Given the description of an element on the screen output the (x, y) to click on. 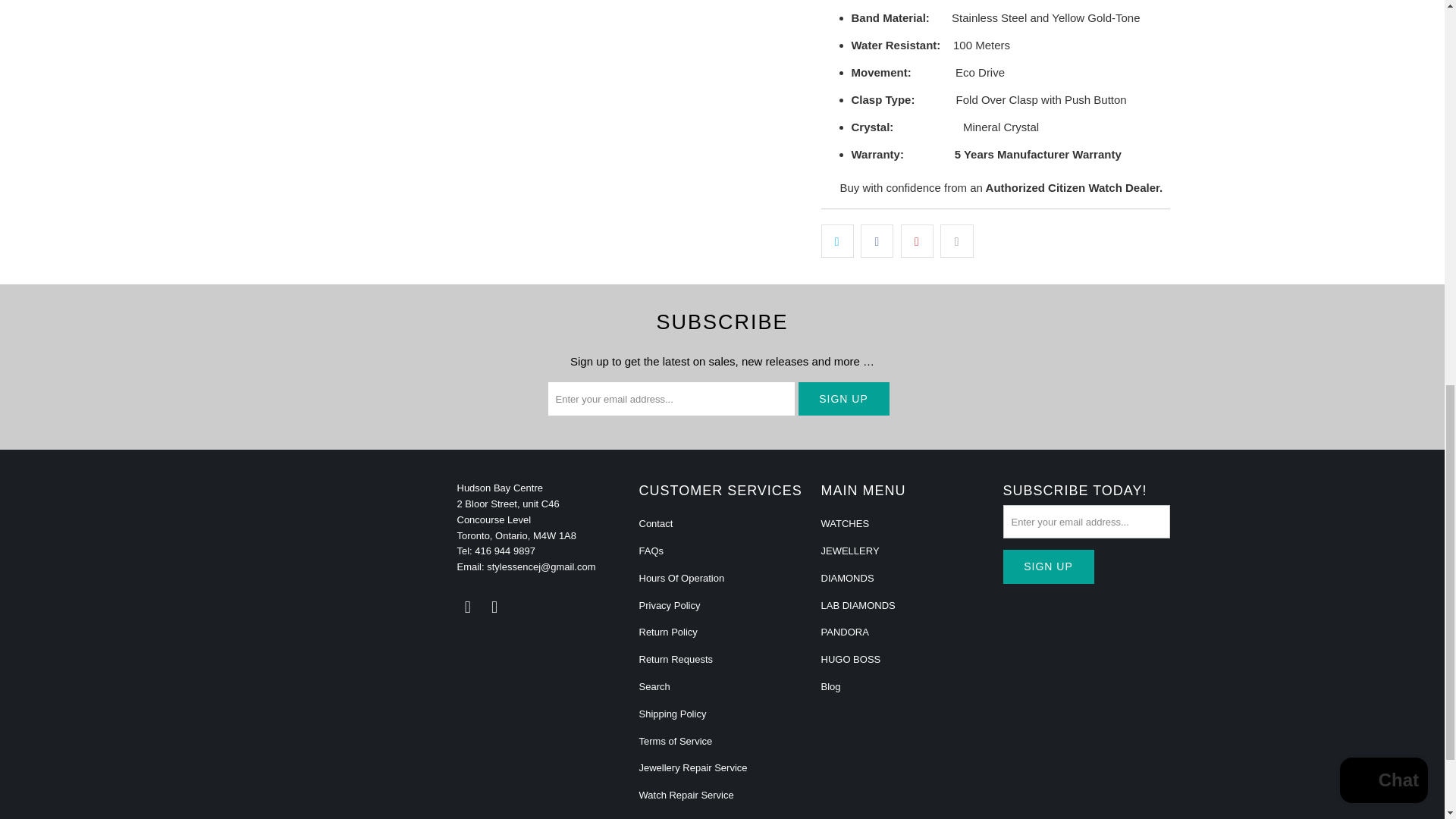
Sign Up (1048, 566)
Stylessence Fine Jewellery on Facebook (468, 607)
Share this on Pinterest (917, 240)
Stylessence Fine Jewellery on Instagram (494, 607)
Email this to a friend (956, 240)
Share this on Twitter (837, 240)
Sign Up (842, 398)
Share this on Facebook (876, 240)
